Given the description of an element on the screen output the (x, y) to click on. 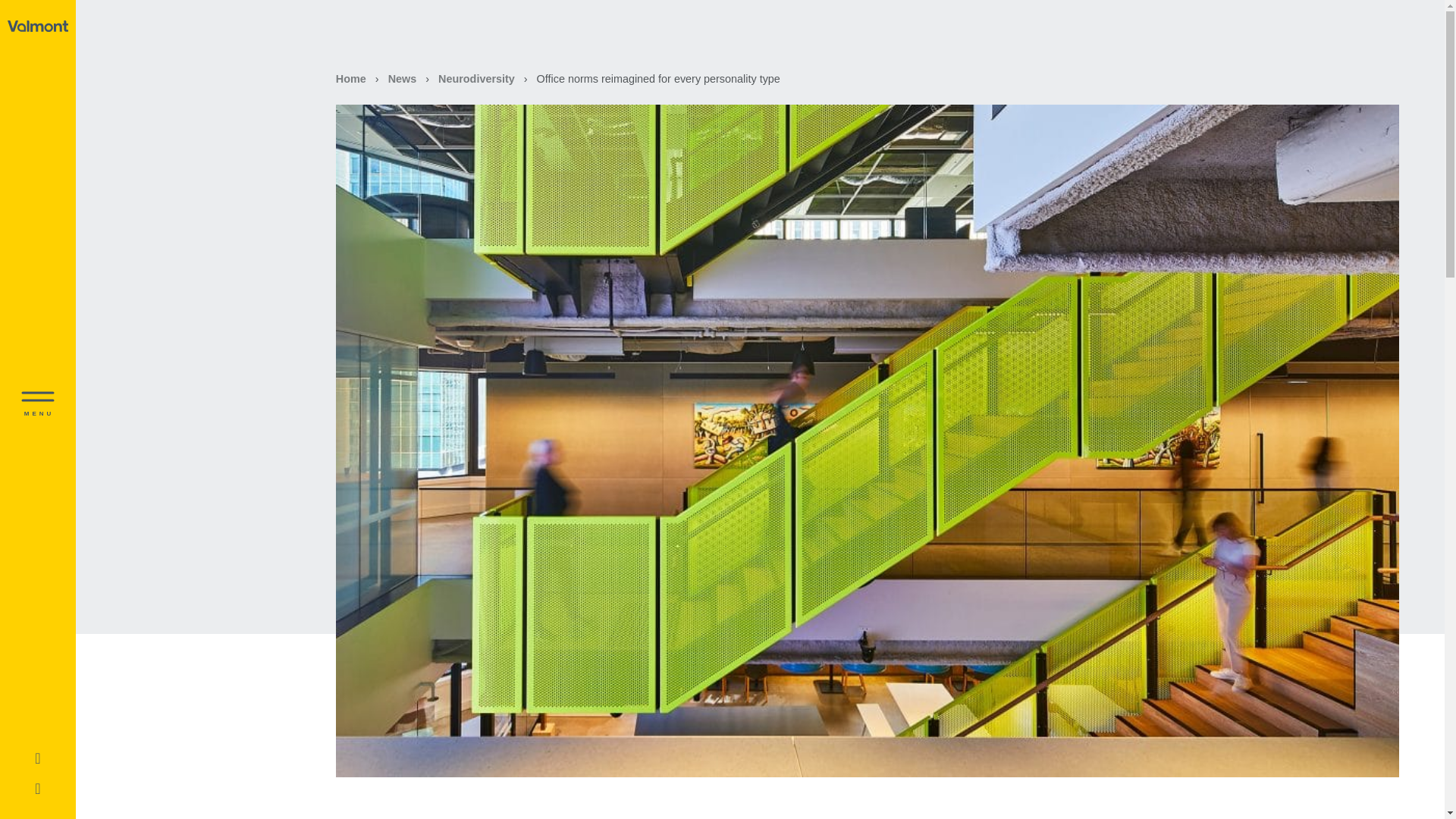
MENU (37, 410)
Home (351, 78)
News (402, 78)
Neurodiversity (476, 78)
